Given the description of an element on the screen output the (x, y) to click on. 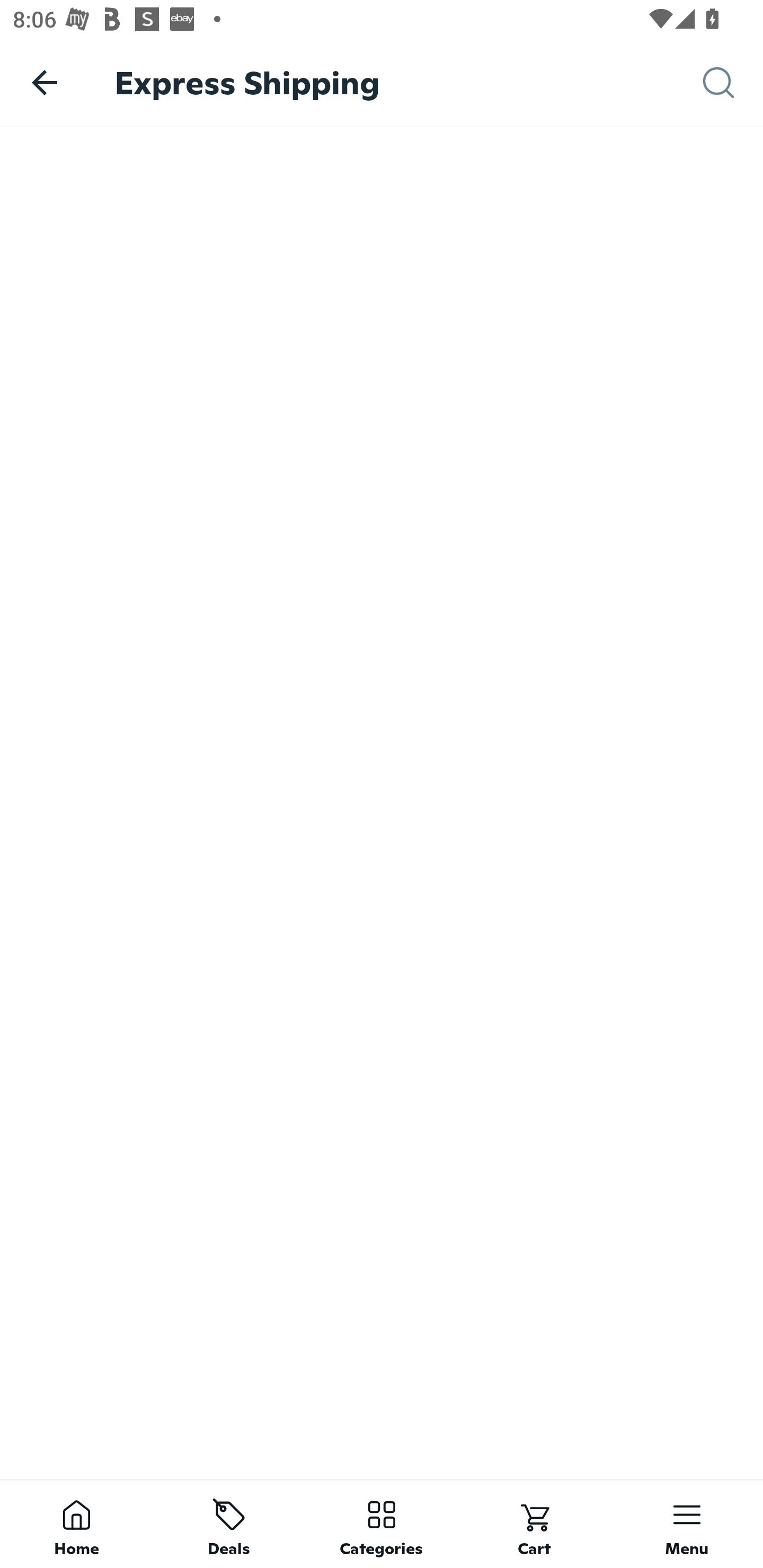
Navigate up (44, 82)
Search (732, 82)
Home (76, 1523)
Deals (228, 1523)
Categories (381, 1523)
Cart (533, 1523)
Menu (686, 1523)
